Given the description of an element on the screen output the (x, y) to click on. 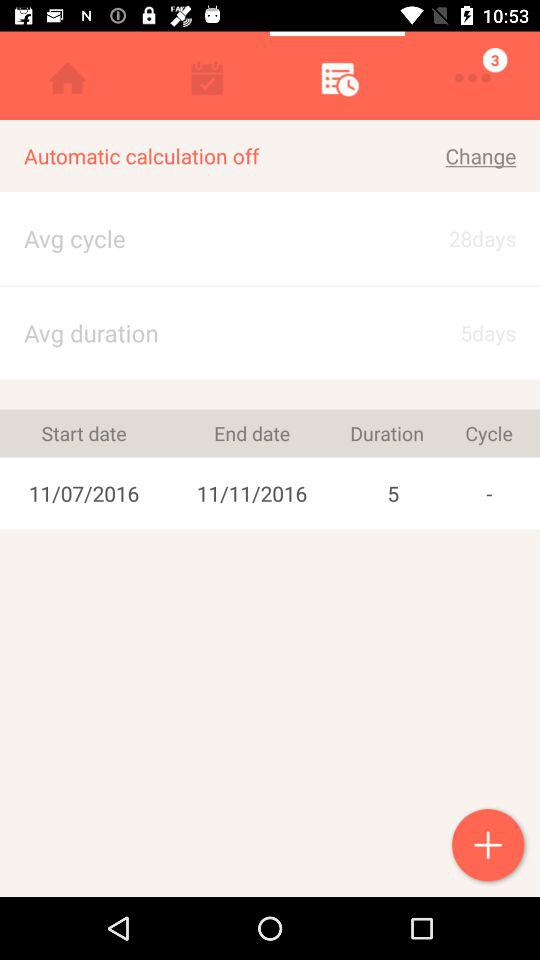
turn on the icon next to the change icon (204, 156)
